Given the description of an element on the screen output the (x, y) to click on. 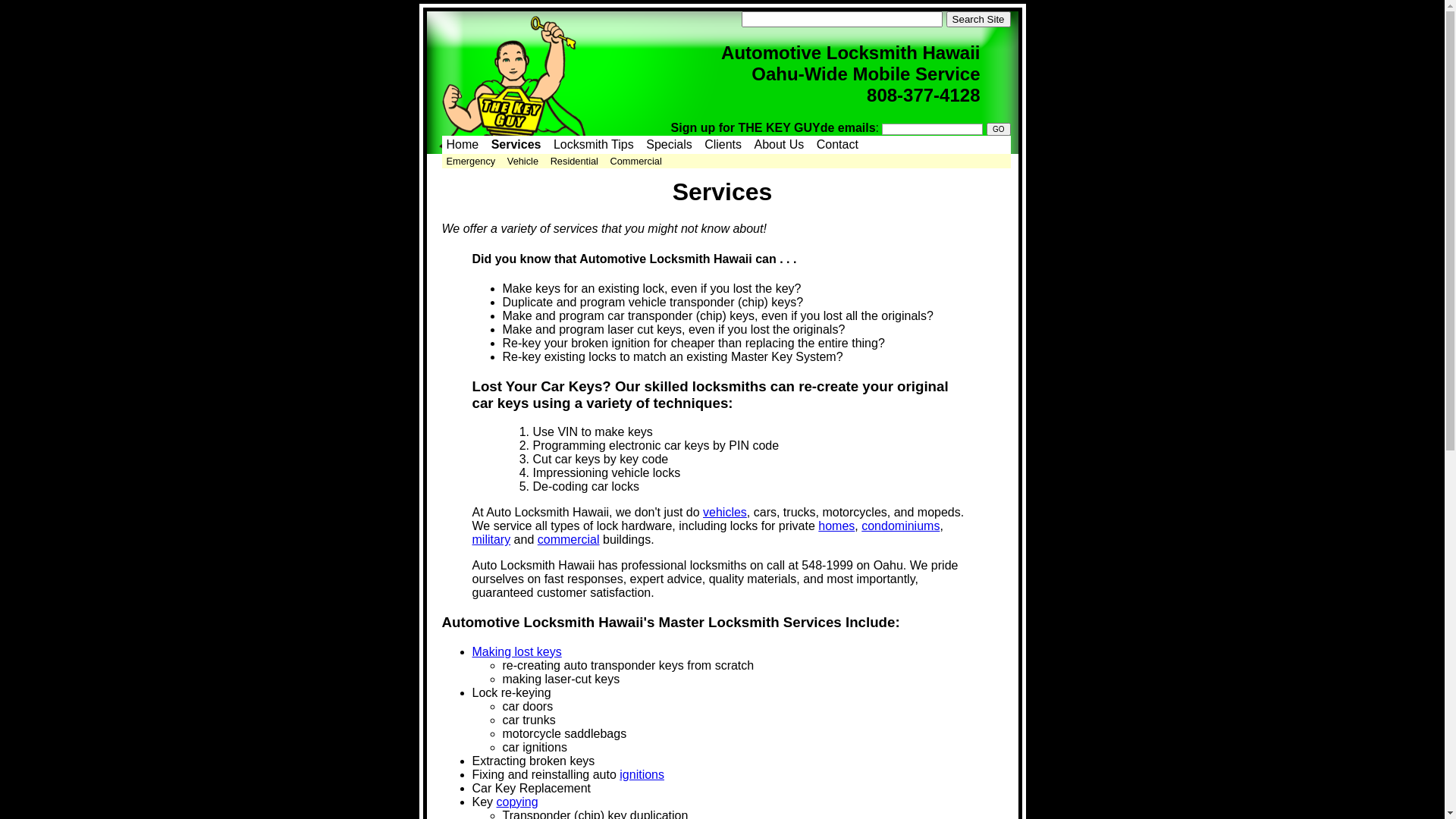
commercial Element type: text (568, 539)
condominiums Element type: text (900, 525)
Emergency Element type: text (470, 160)
GO Element type: text (998, 128)
Search Site Element type: text (978, 19)
copying Element type: text (517, 801)
Making lost keys Element type: text (516, 651)
Commercial Element type: text (635, 160)
Home Element type: text (462, 144)
vehicles Element type: text (724, 511)
Contact Element type: text (837, 144)
Vehicle Element type: text (522, 160)
ignitions Element type: text (641, 774)
Services Element type: text (516, 144)
Clients Element type: text (722, 144)
homes Element type: text (836, 525)
military Element type: text (490, 539)
Residential Element type: text (574, 160)
About Us Element type: text (778, 144)
Locksmith Tips Element type: text (593, 144)
Specials Element type: text (668, 144)
